Given the description of an element on the screen output the (x, y) to click on. 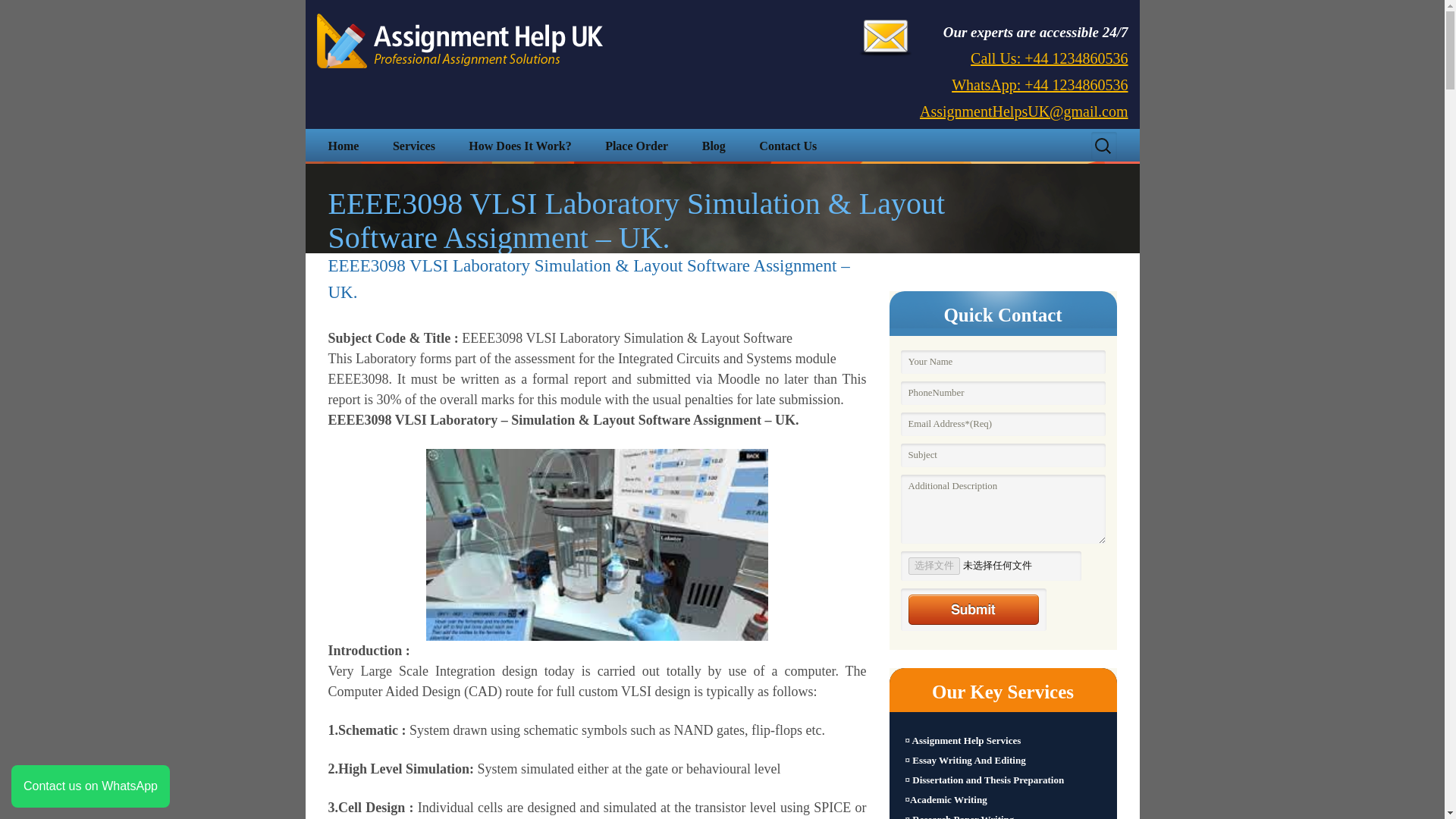
Contact Us (787, 145)
Blog (714, 145)
How Does It Work? (519, 145)
Essay Writing Help (496, 181)
Services (413, 145)
Home (343, 145)
Place Order (635, 145)
Assignment Help UK - Logo (459, 40)
